Given the description of an element on the screen output the (x, y) to click on. 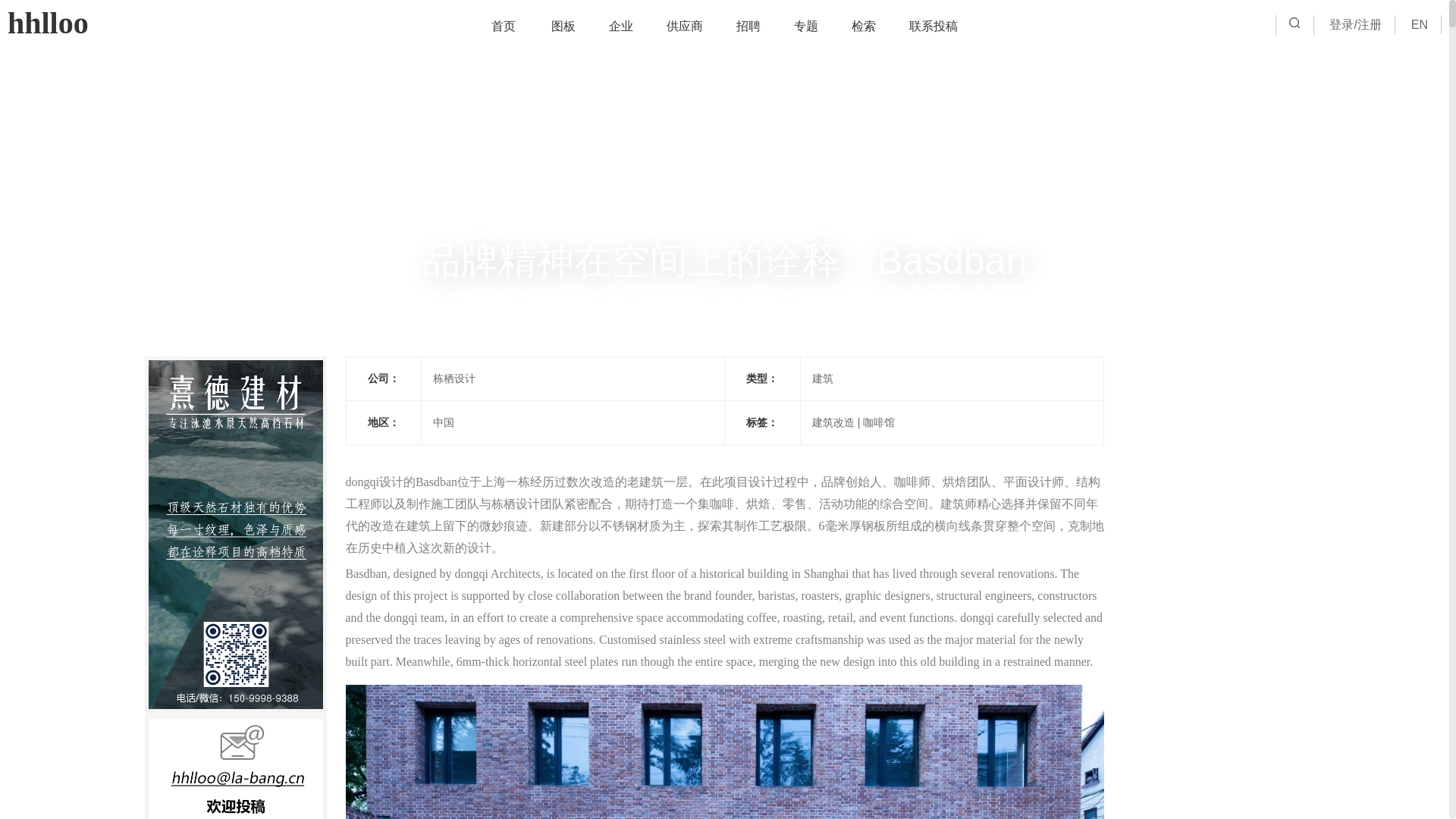
EN (1419, 24)
hhlloo (47, 22)
